Given the description of an element on the screen output the (x, y) to click on. 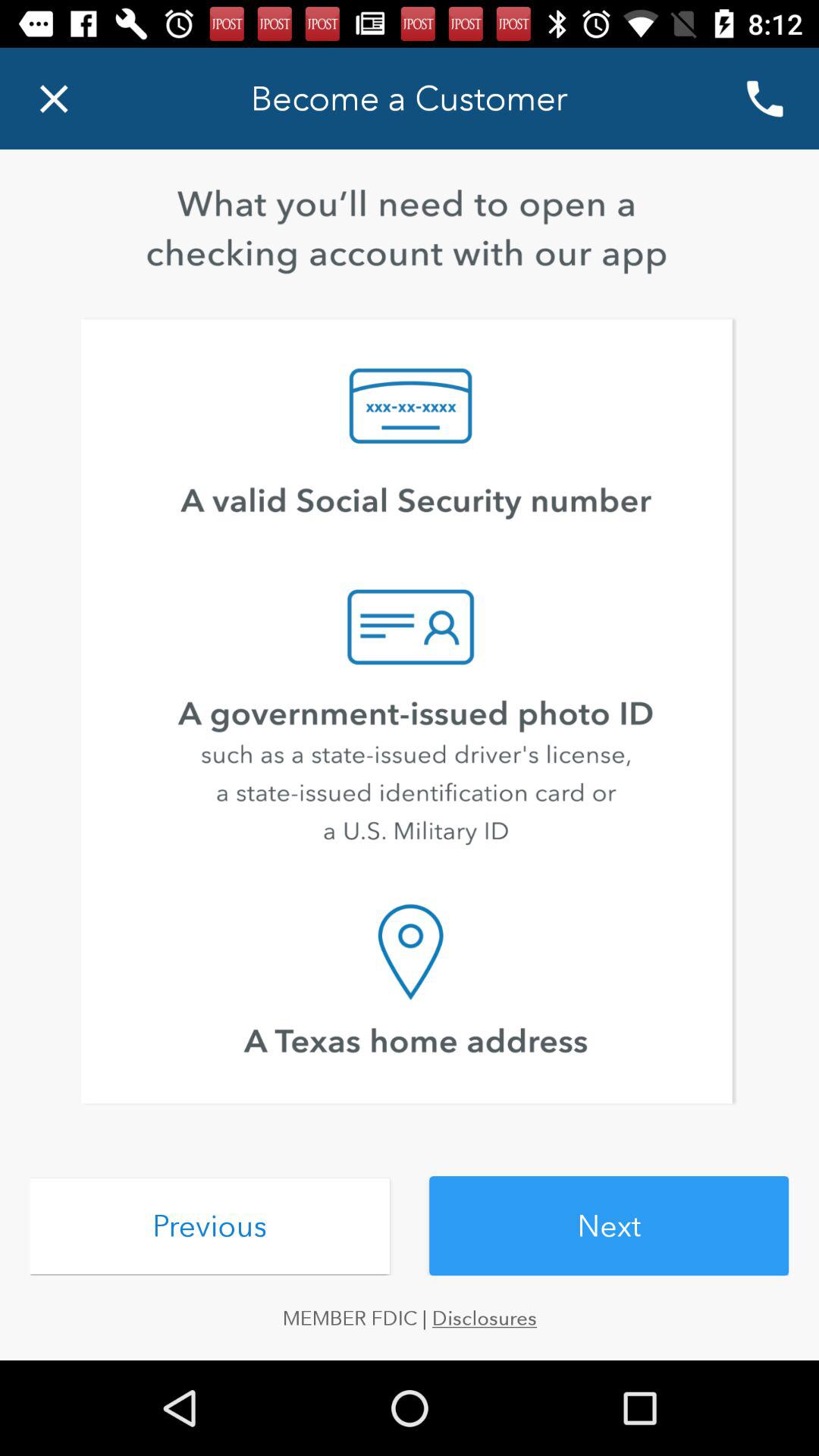
turn on the previous at the bottom left corner (209, 1226)
